Given the description of an element on the screen output the (x, y) to click on. 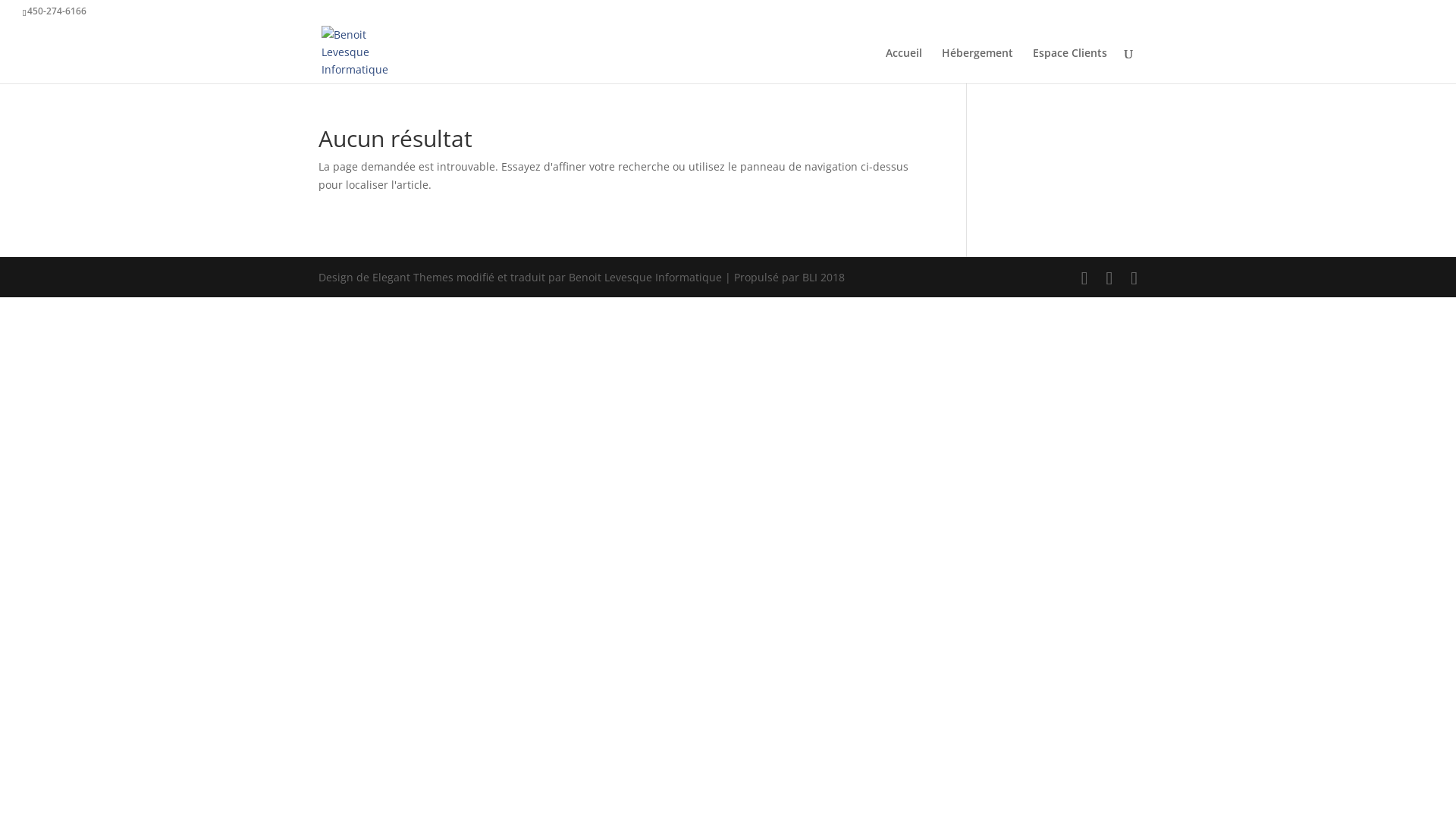
Espace Clients Element type: text (1069, 65)
Accueil Element type: text (903, 65)
